Given the description of an element on the screen output the (x, y) to click on. 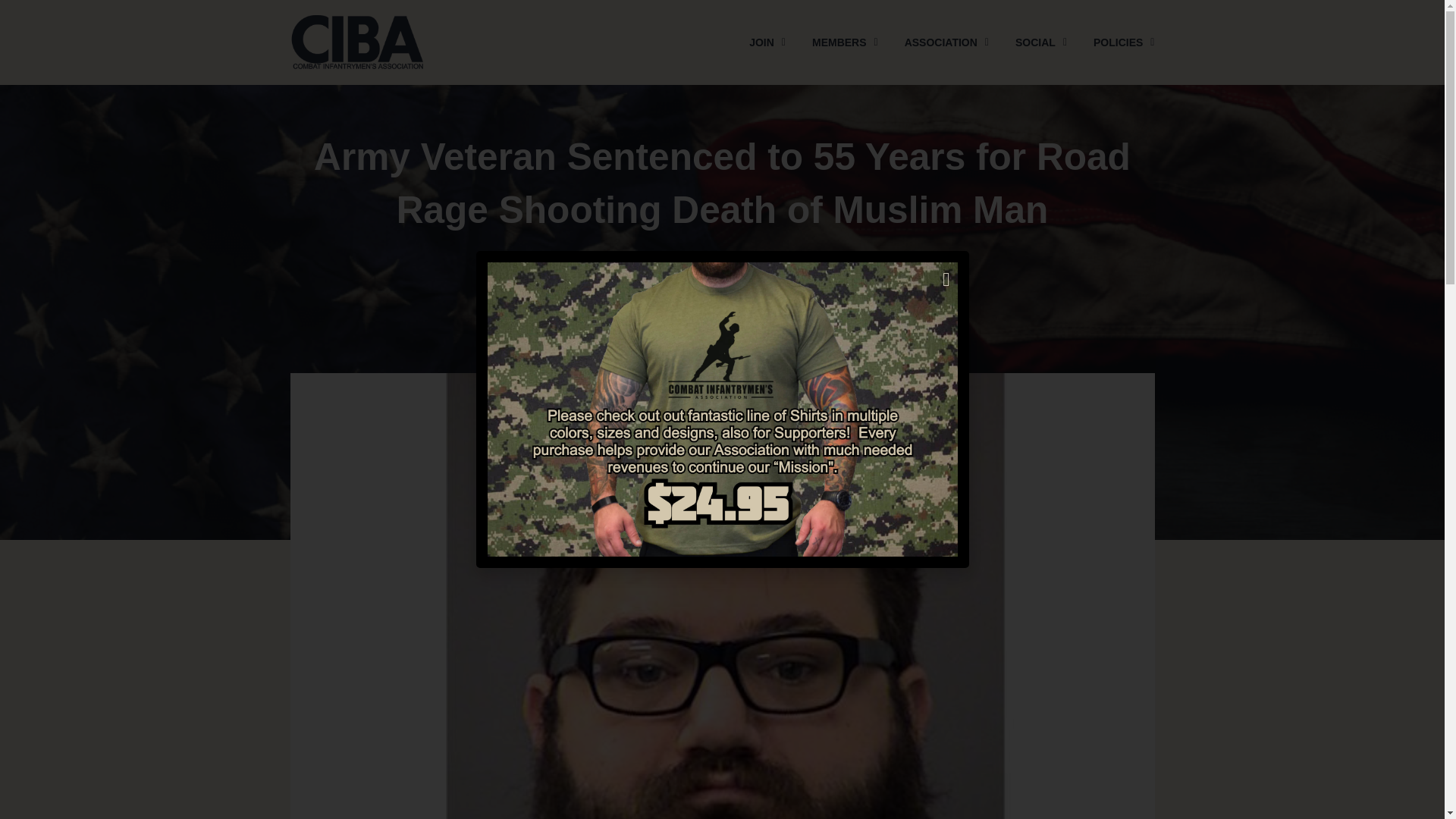
Combat Infantrymen's Association On Instagram (687, 337)
Combat Infantrymen's Association On Twitter (652, 337)
POLICIES (1123, 42)
Developer Jarvis Media Group (826, 337)
MEMBERS (844, 42)
ASSOCIATION (946, 42)
Combat Infantrymen's Association On Facebook (617, 337)
Combat Infantrymen's Association On Google (722, 337)
SOCIAL (1040, 42)
JOIN (767, 42)
Combat Infantrymen's Association On Linkedin (756, 337)
Combat Infantrymen's Association On Youtube (791, 337)
